Given the description of an element on the screen output the (x, y) to click on. 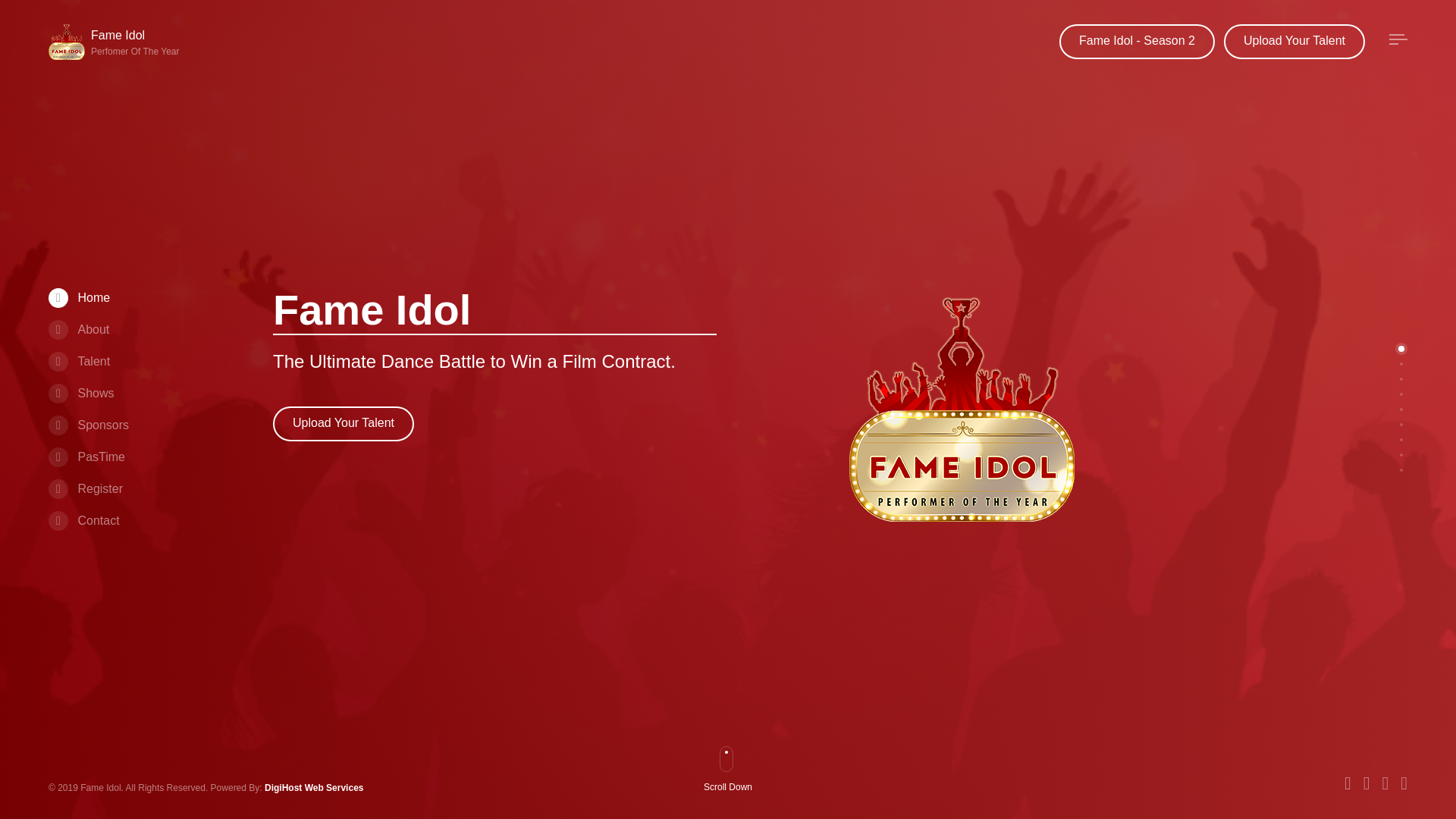
Home (79, 297)
Upload Your Talent (1294, 41)
Fame Idol - Season 2 (1136, 41)
Shows (80, 392)
Scroll Down (117, 42)
Upload Your Talent (733, 788)
Sponsors (343, 423)
Talent (88, 424)
Register (79, 360)
